Given the description of an element on the screen output the (x, y) to click on. 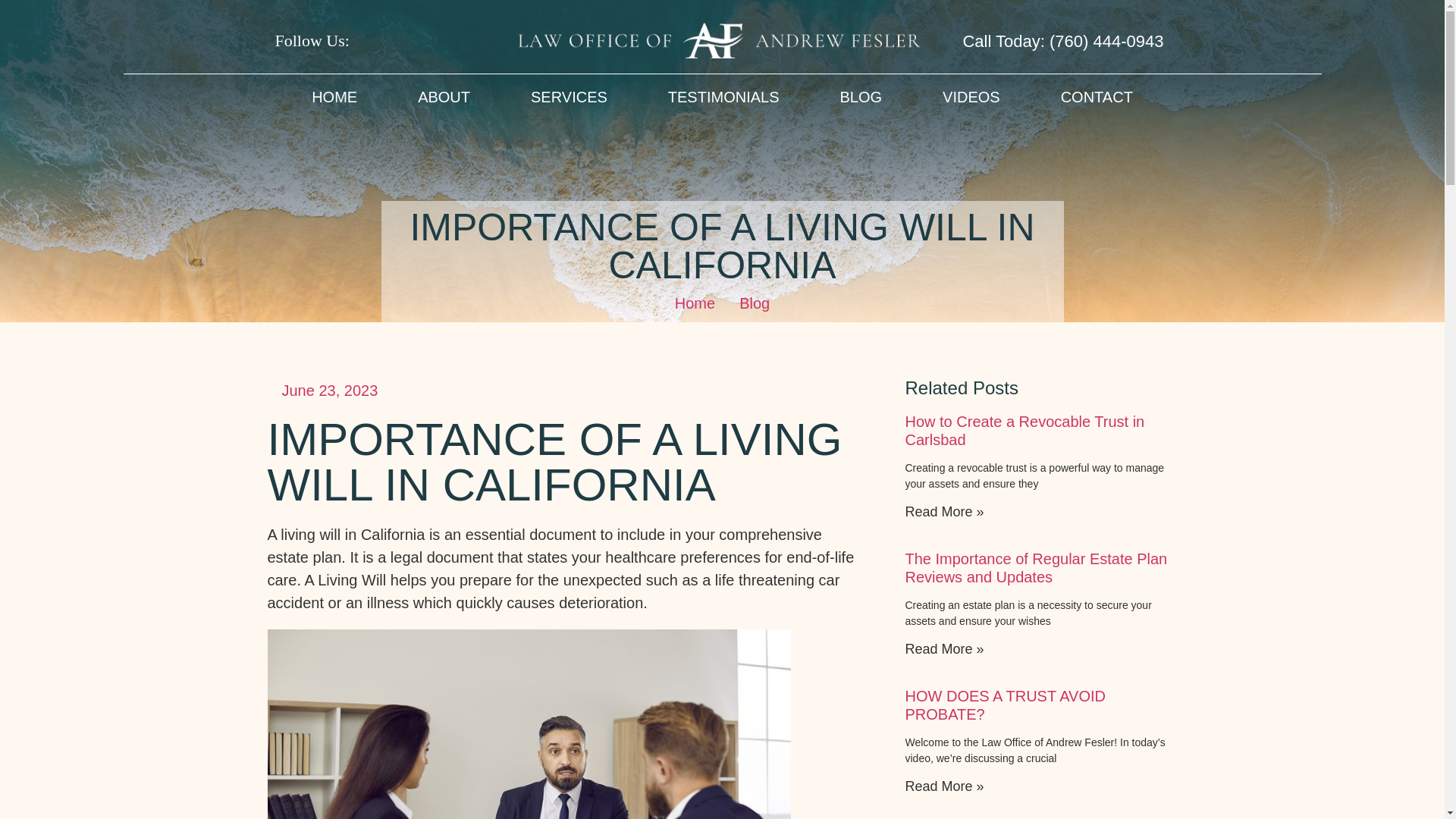
SERVICES (569, 96)
TESTIMONIALS (723, 96)
CONTACT (1096, 96)
VIDEOS (970, 96)
BLOG (861, 96)
HOME (334, 96)
ABOUT (443, 96)
